Given the description of an element on the screen output the (x, y) to click on. 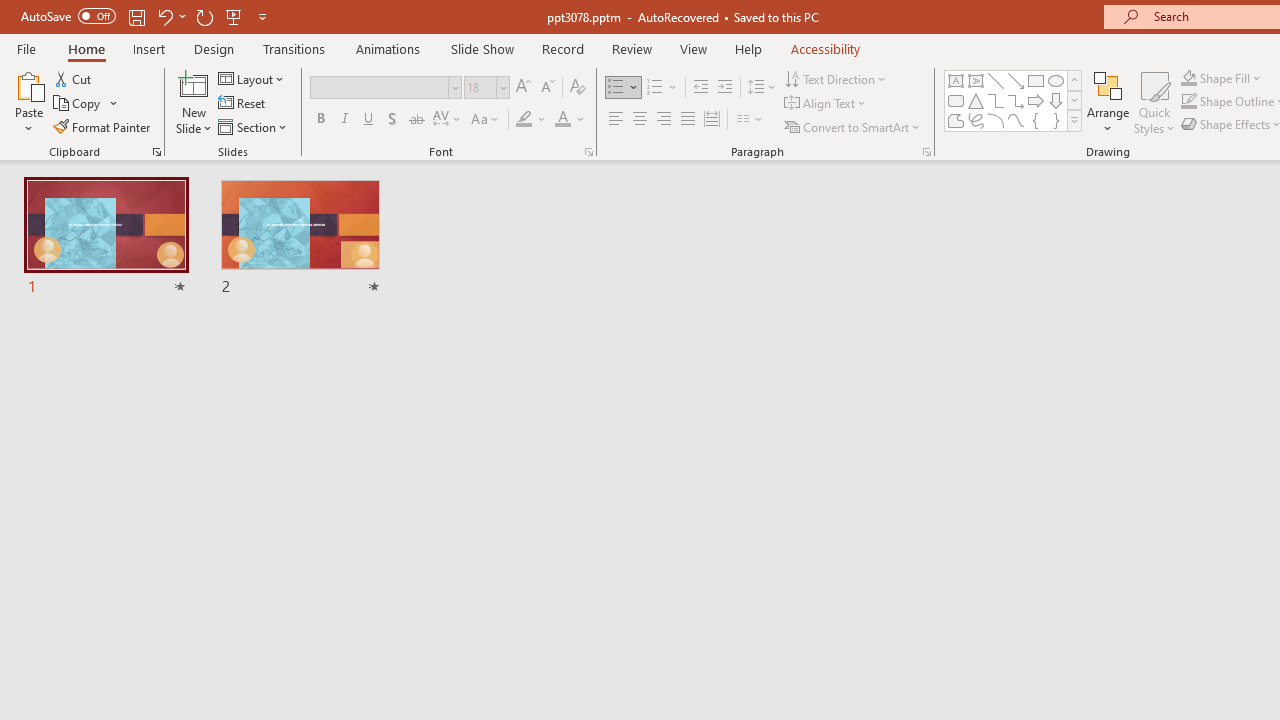
Shape Fill Dark Green, Accent 2 (1188, 78)
